Given the description of an element on the screen output the (x, y) to click on. 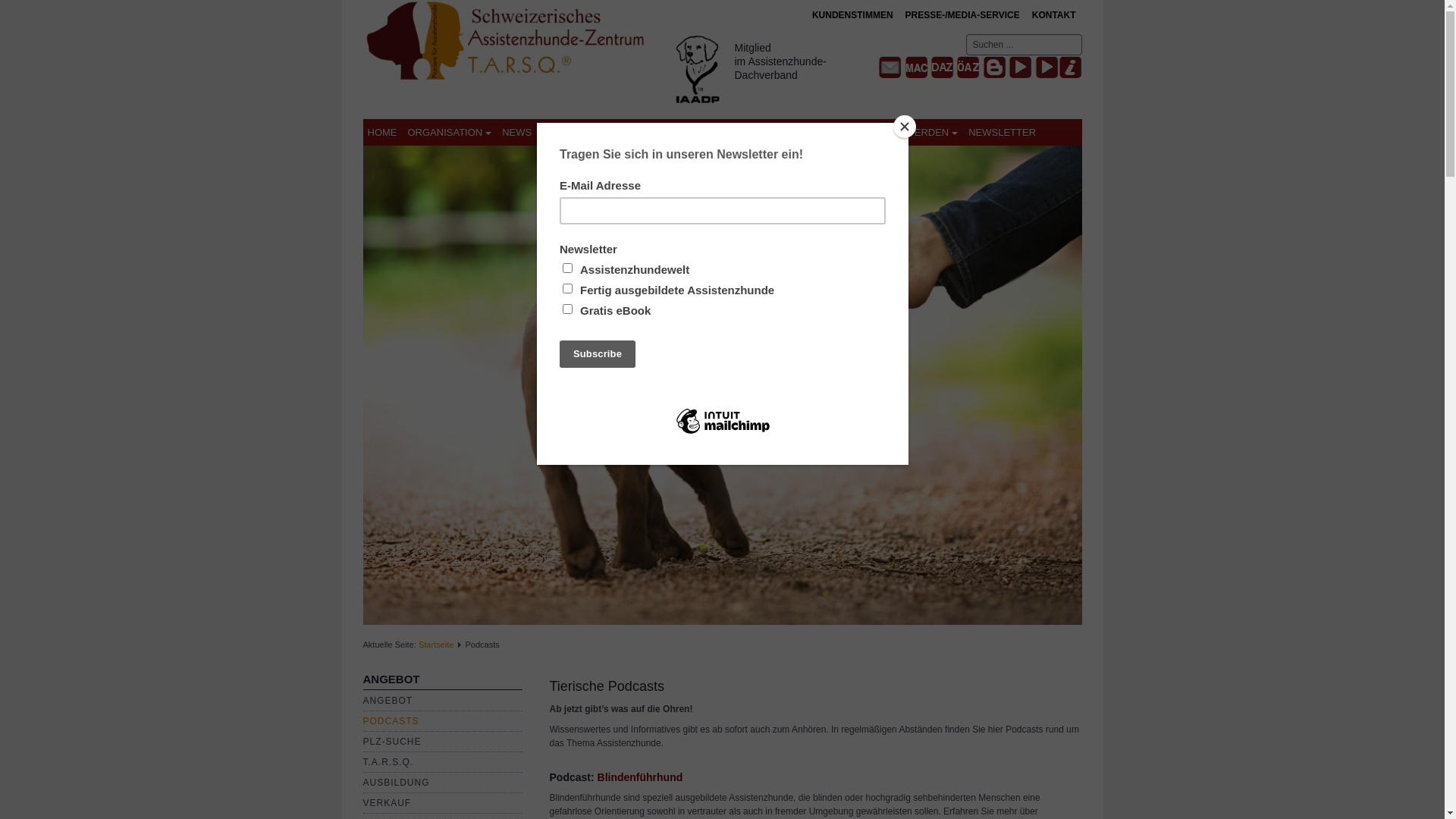
HOME Element type: text (382, 132)
ASSISTENZHUNDE Element type: text (593, 132)
T.A.R.S.Q. Element type: text (387, 761)
Startseite Element type: text (435, 644)
PODCASTS Element type: text (390, 720)
PRESSE Element type: text (824, 132)
INTERAKTIVES Element type: text (748, 132)
AUSBILDUNG Element type: text (395, 782)
ORGANISATION Element type: text (450, 132)
PRESSE-/MEDIA-SERVICE Element type: text (962, 15)
PLZ-SUCHE Element type: text (391, 741)
KUNDENSTIMMEN Element type: text (852, 15)
NEWS Element type: text (517, 132)
TRAINER WERDEN Element type: text (908, 132)
KONTAKT Element type: text (1054, 15)
VERKAUF Element type: text (386, 802)
KURSE Element type: text (676, 132)
ANGEBOT Element type: text (387, 700)
NEWSLETTER Element type: text (1002, 132)
